Given the description of an element on the screen output the (x, y) to click on. 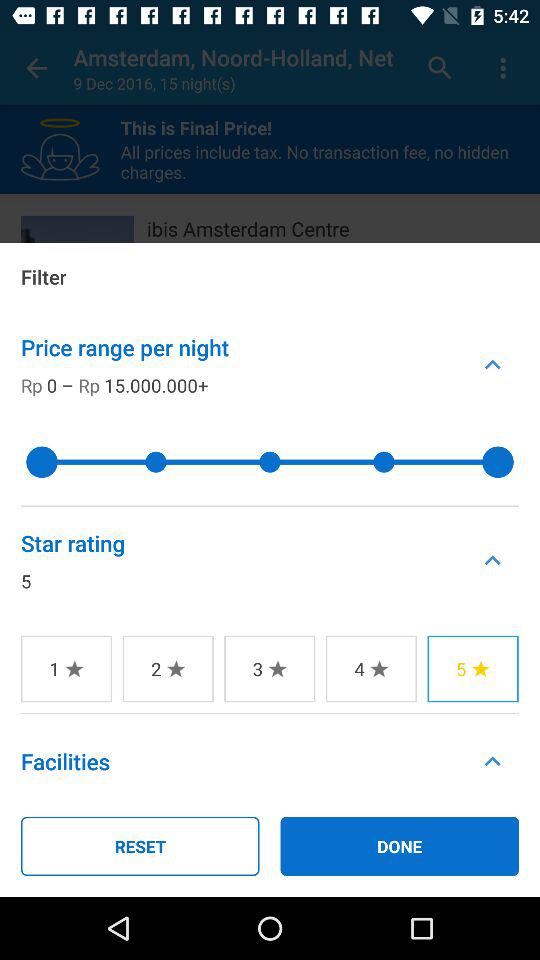
choose reset icon (140, 846)
